Given the description of an element on the screen output the (x, y) to click on. 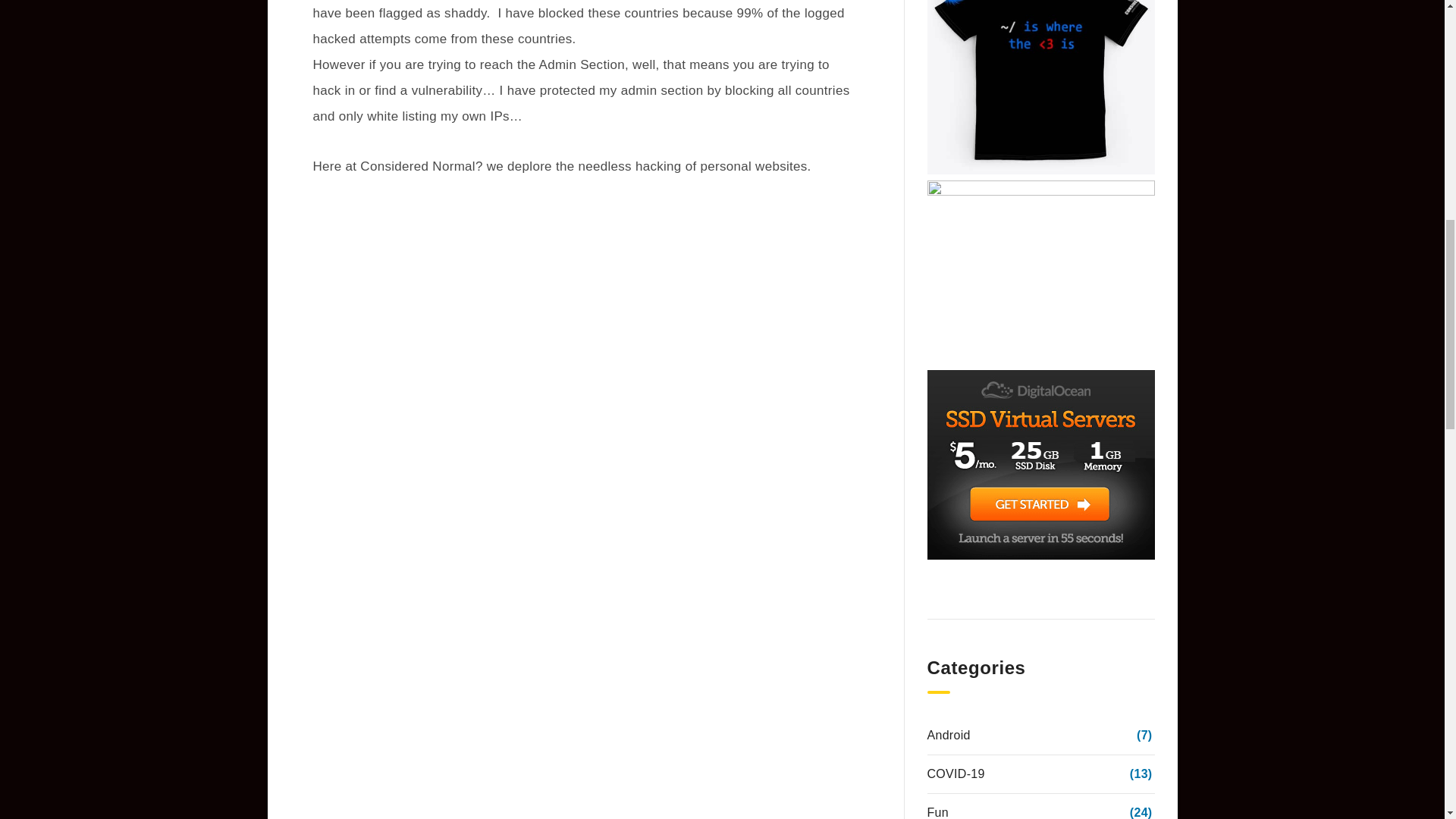
COVID-19 (955, 773)
Fun (936, 810)
Android (947, 734)
